Given the description of an element on the screen output the (x, y) to click on. 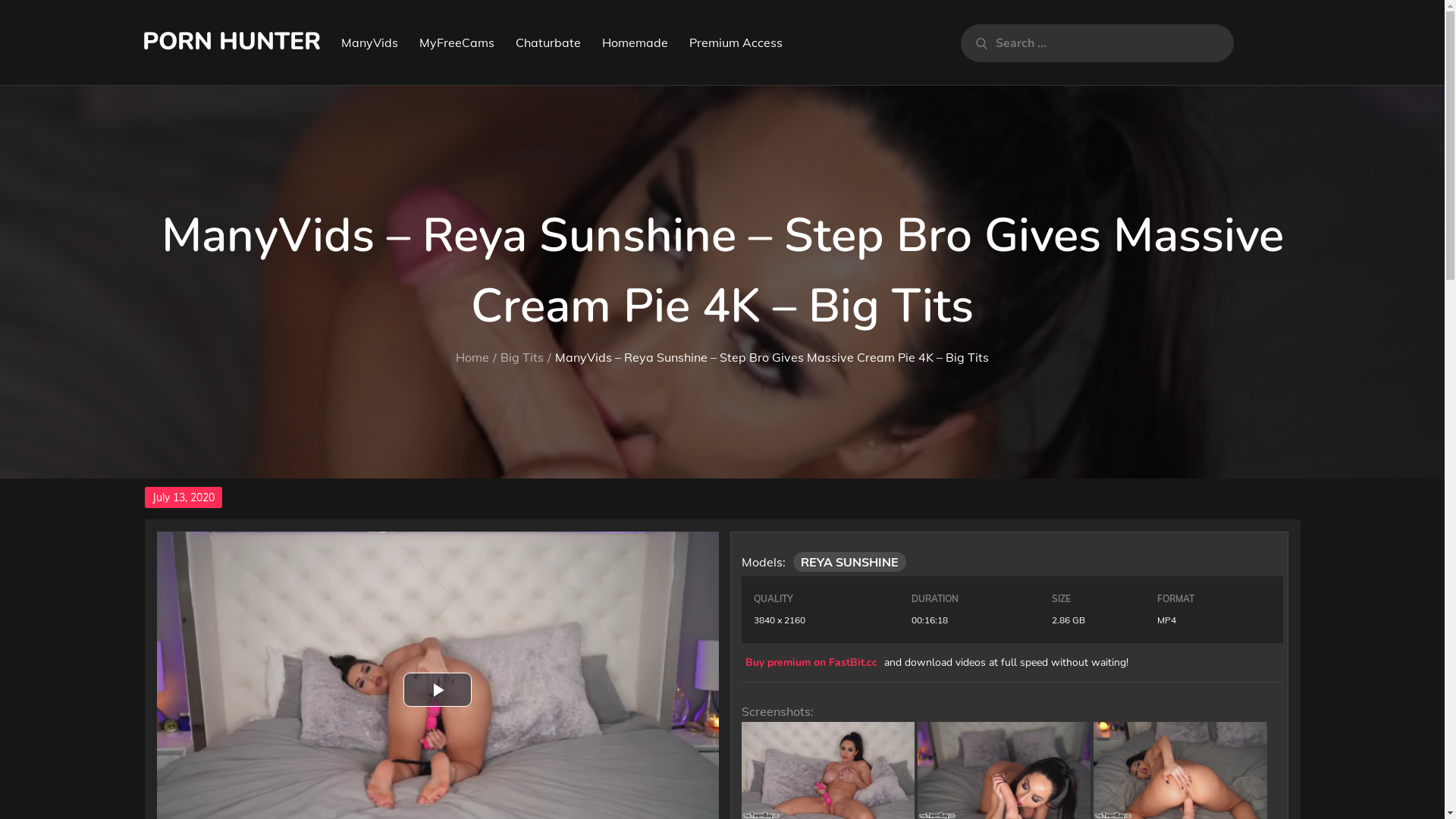
Skip to content Element type: text (0, 0)
REYA SUNSHINE Element type: text (849, 561)
PORN HUNTER Element type: text (231, 41)
Home Element type: text (472, 356)
Search Element type: text (975, 43)
Buy premium on FastBit.cc Element type: text (811, 662)
Play Video Element type: text (437, 689)
Chaturbate Element type: text (547, 42)
Homemade Element type: text (635, 42)
Premium Access Element type: text (734, 42)
MyFreeCams Element type: text (455, 42)
July 13, 2020 Element type: text (182, 497)
ManyVids Element type: text (369, 42)
Big Tits Element type: text (521, 356)
